Given the description of an element on the screen output the (x, y) to click on. 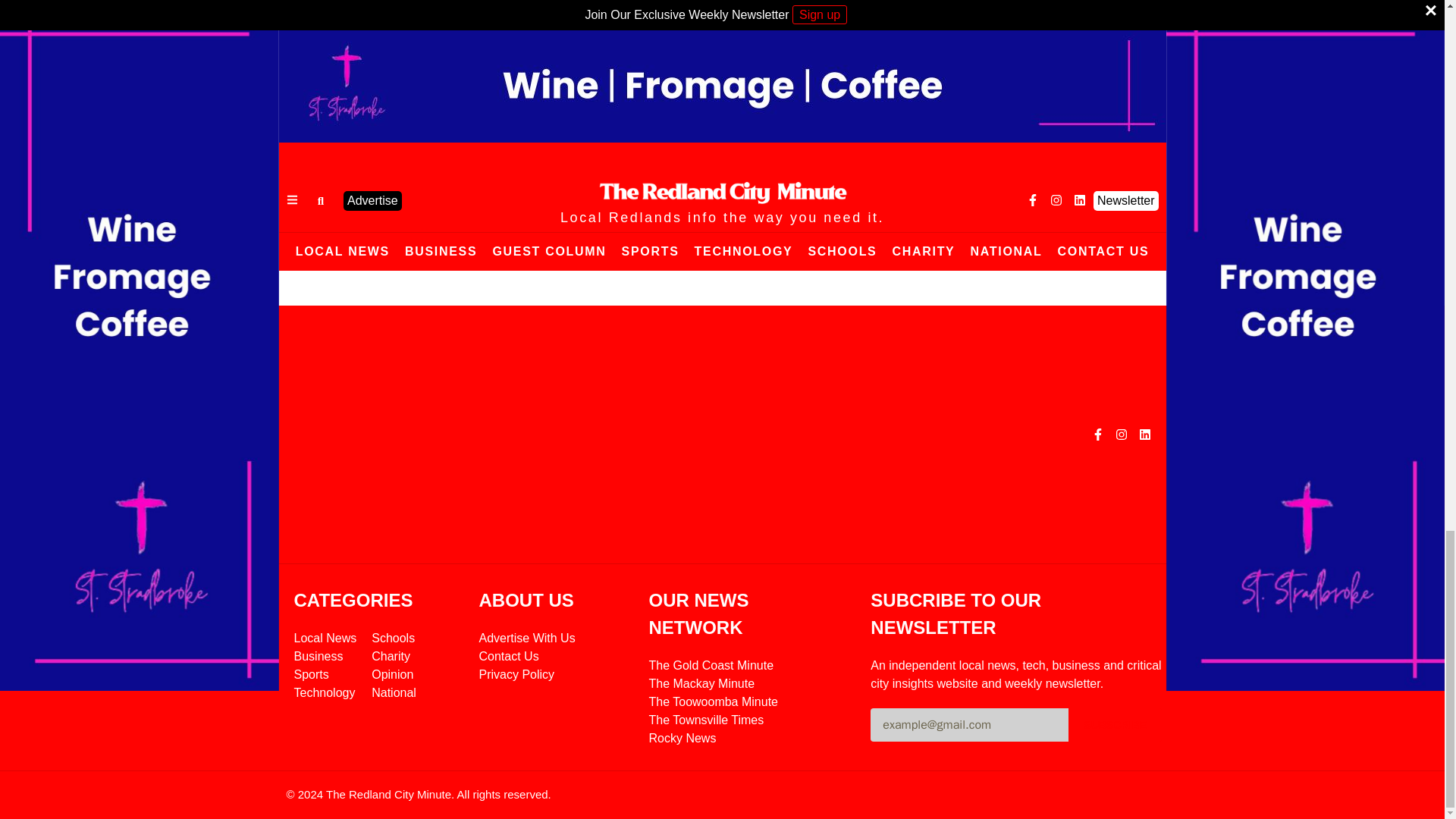
Facebook (630, 171)
Linkedin (721, 171)
Reddit (782, 171)
Twitter (660, 171)
Pinterest (691, 171)
Email (812, 171)
Whatsapp (751, 171)
